Given the description of an element on the screen output the (x, y) to click on. 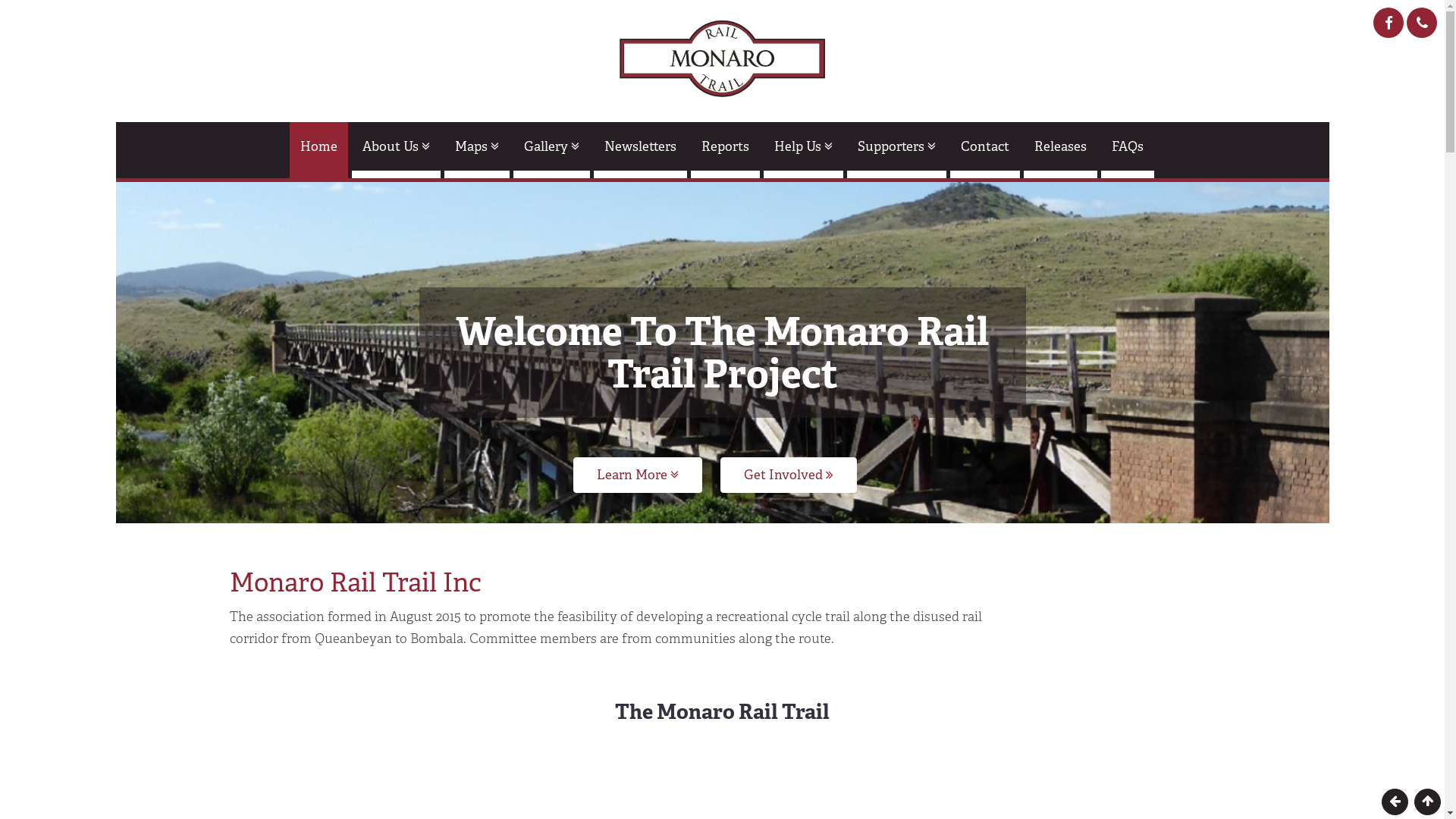
Home Element type: text (318, 150)
Newsletters Element type: text (640, 150)
Maps Element type: text (476, 150)
Learn More Element type: text (637, 474)
Gallery Element type: text (551, 150)
Supporters Element type: text (896, 150)
FAQs Element type: text (1127, 150)
Releases Element type: text (1060, 150)
About Us Element type: text (395, 150)
Reports Element type: text (724, 150)
Get Involved Element type: text (788, 474)
Help Us Element type: text (803, 150)
Contact Element type: text (984, 150)
